Given the description of an element on the screen output the (x, y) to click on. 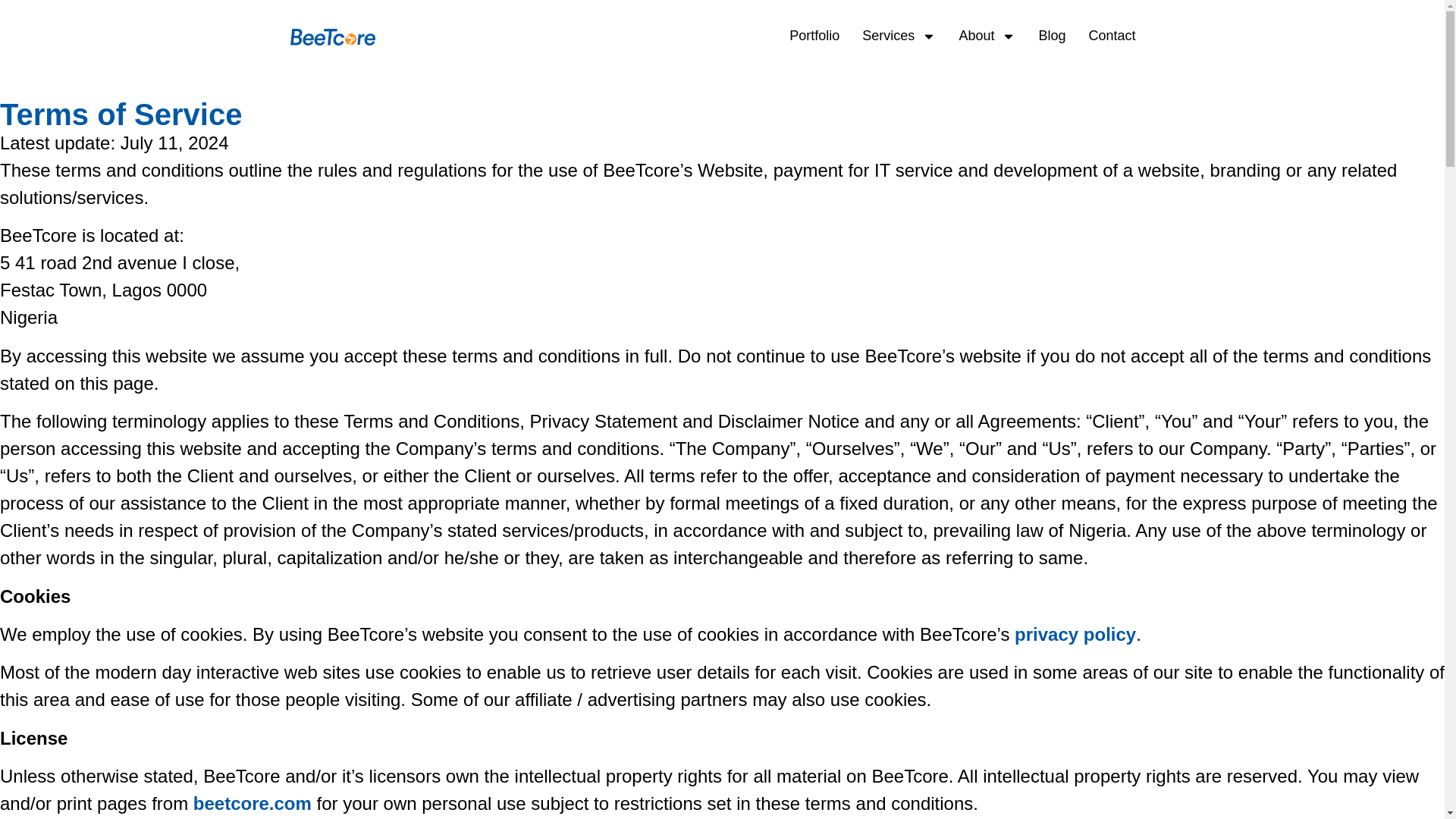
About (986, 35)
beetcore.com (252, 803)
privacy policy (1074, 634)
Contact (1112, 35)
Services (898, 35)
Portfolio (813, 35)
Blog (1051, 35)
